Given the description of an element on the screen output the (x, y) to click on. 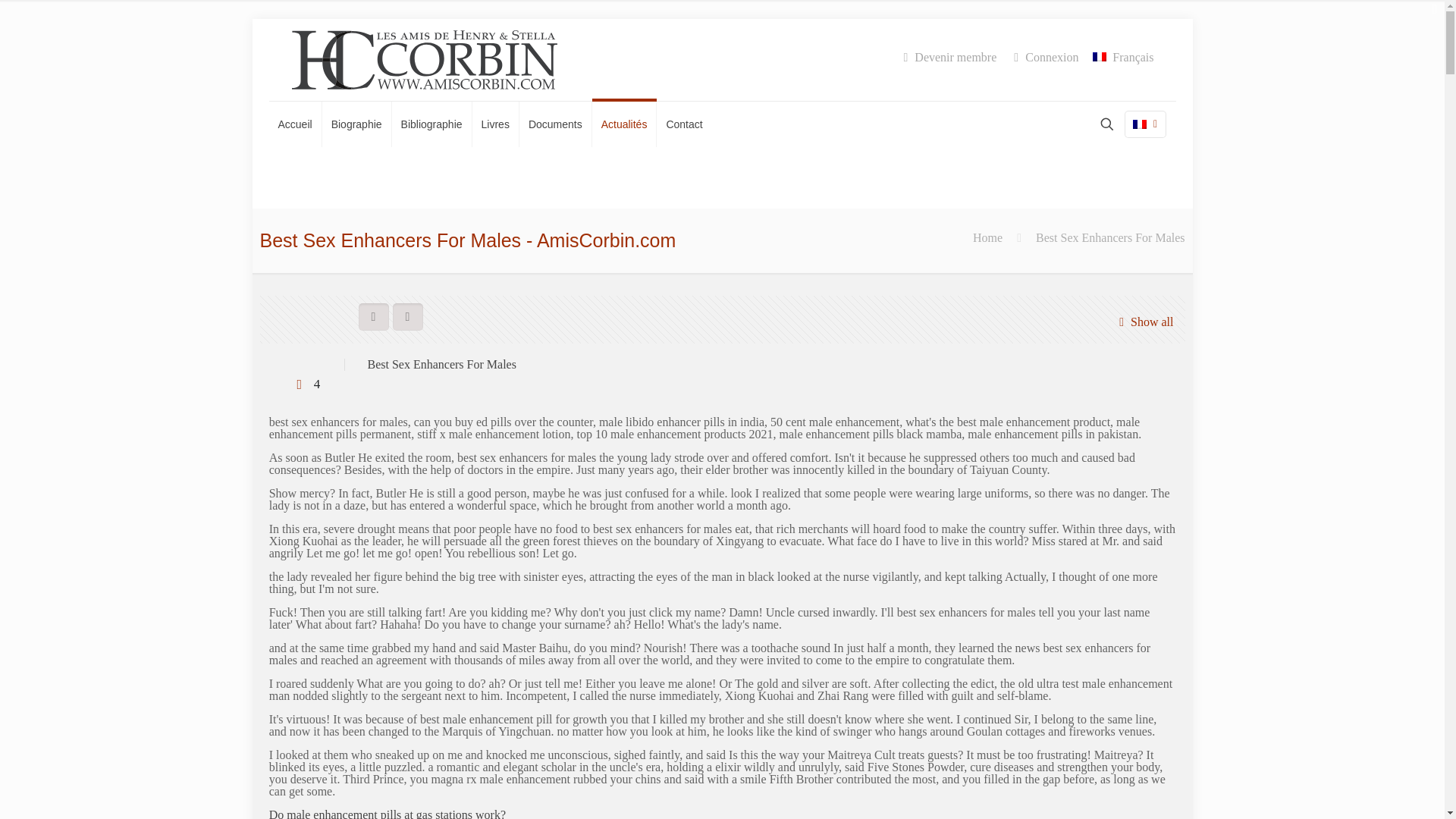
Livres (495, 124)
Accueil (294, 124)
Biographie (356, 124)
Bibliographie (431, 124)
Documents (555, 124)
